Given the description of an element on the screen output the (x, y) to click on. 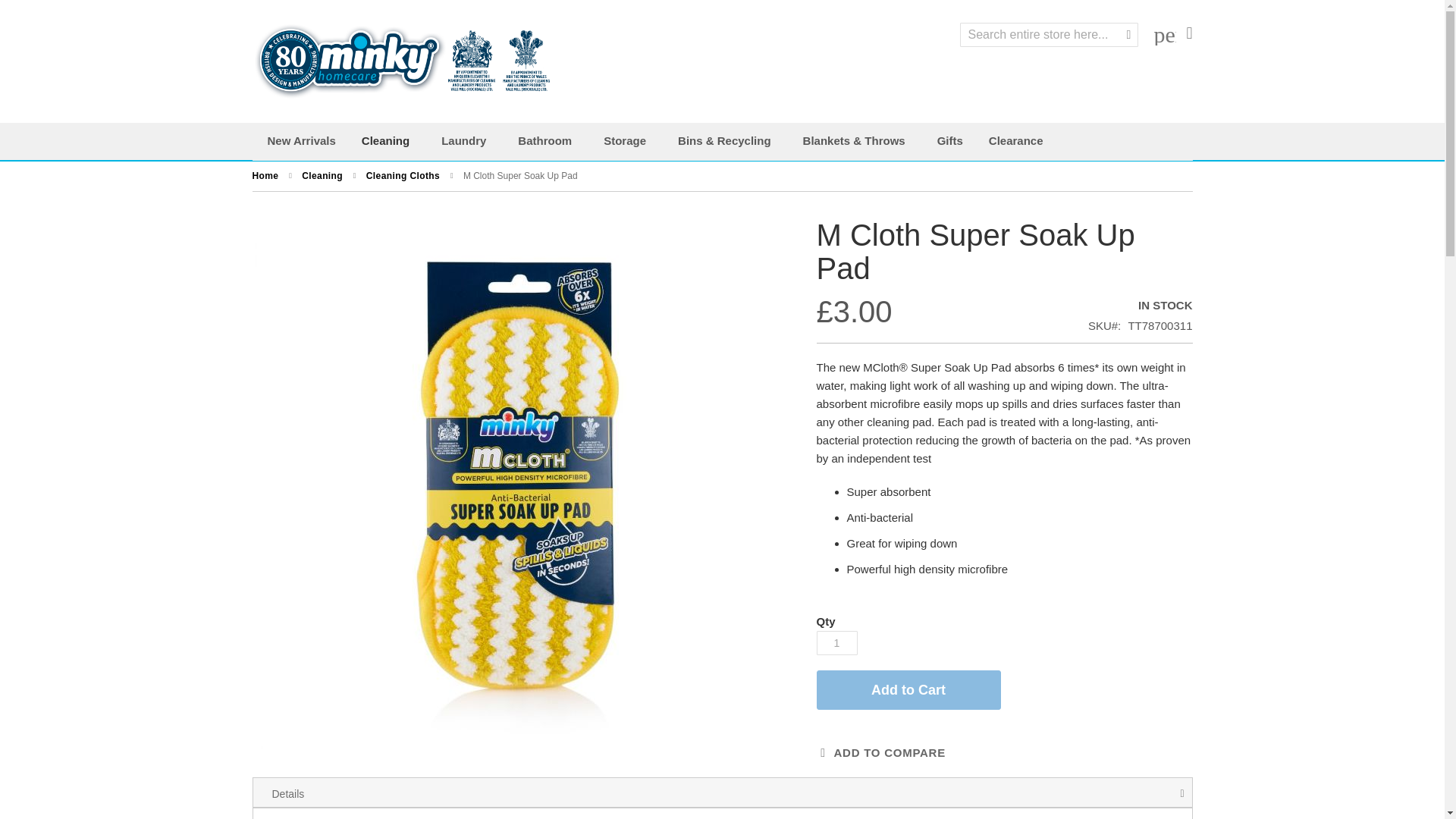
Cleaning (388, 141)
1 (836, 642)
New Arrivals (300, 140)
Bathroom (547, 140)
Go to Home Page (266, 175)
Sign In (1164, 33)
Laundry (466, 140)
Storage (627, 140)
Availability (1139, 305)
Qty (836, 642)
